Given the description of an element on the screen output the (x, y) to click on. 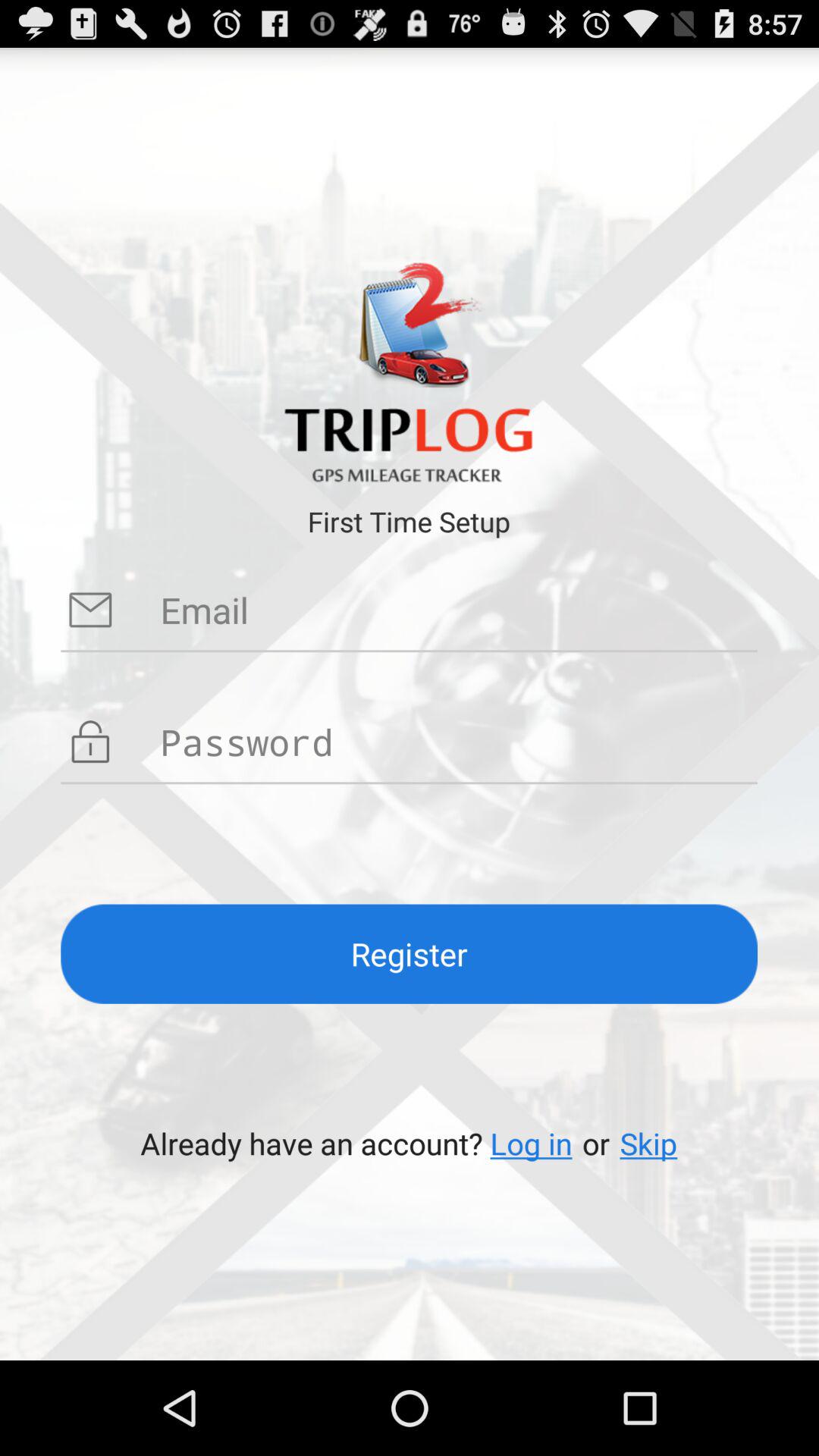
set up email for triplog (458, 609)
